Given the description of an element on the screen output the (x, y) to click on. 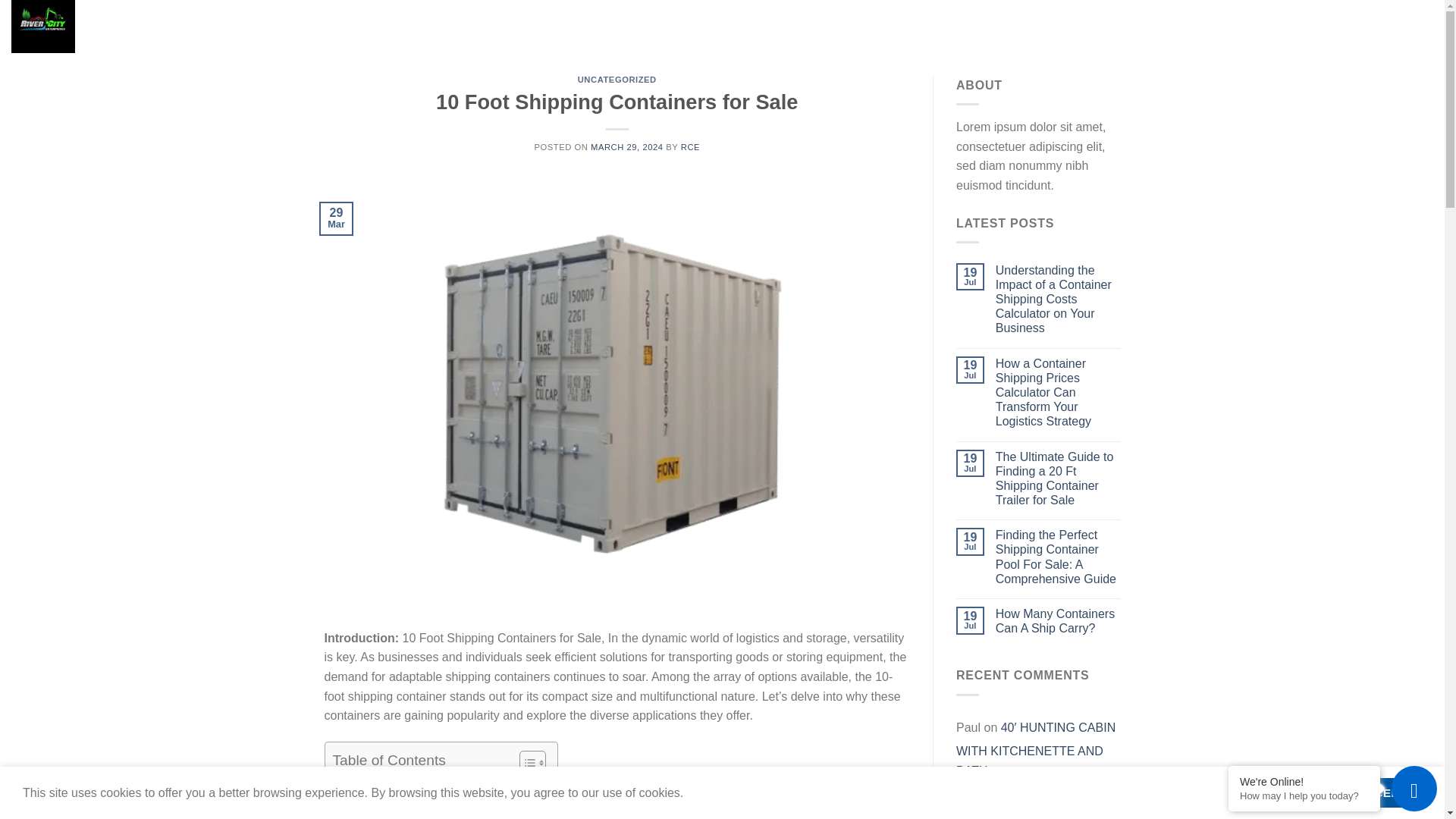
RCE (690, 146)
MARCH 29, 2024 (627, 146)
MENU (267, 26)
Applications Across Industries: (415, 802)
UNCATEGORIZED (617, 79)
Understanding the Appeal: (405, 784)
Applications Across Industries: (415, 802)
Customization Options: (397, 815)
Understanding the Appeal: (405, 784)
River City Enterprise (113, 26)
Customization Options: (397, 815)
